Given the description of an element on the screen output the (x, y) to click on. 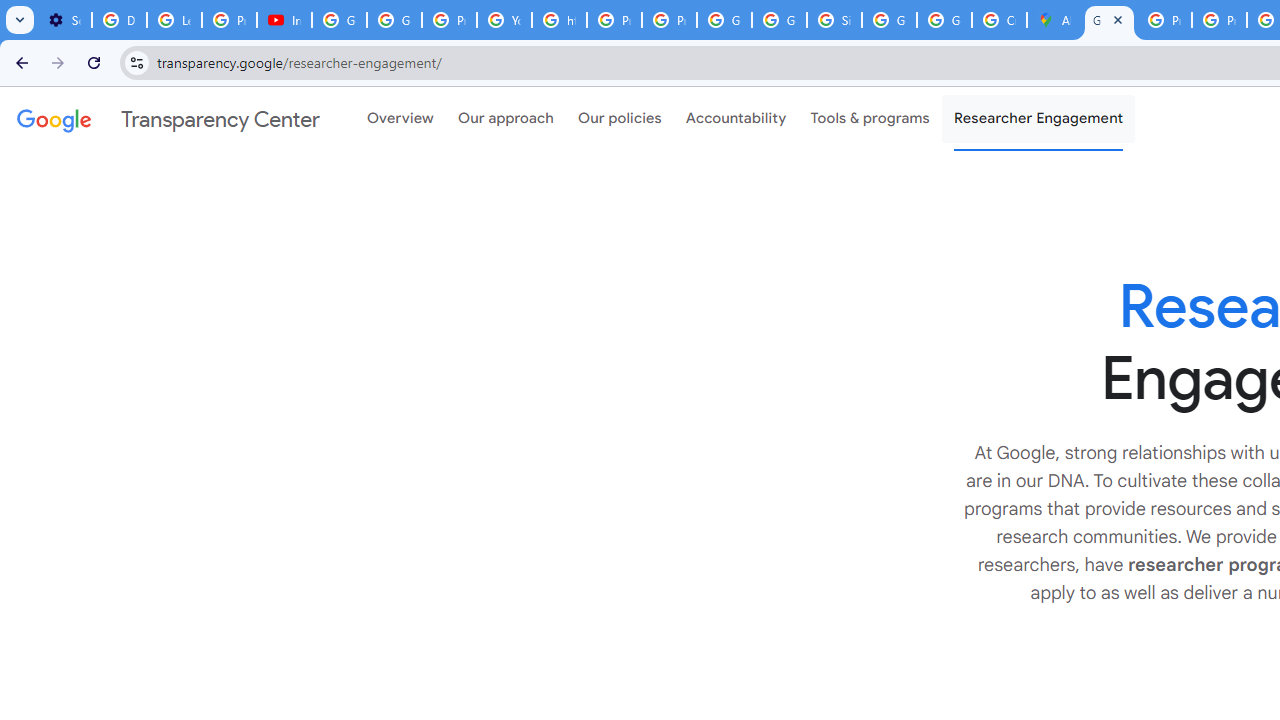
Our approach (506, 119)
Create your Google Account (998, 20)
Accountability (735, 119)
Our policies (619, 119)
Introduction | Google Privacy Policy - YouTube (284, 20)
Sign in - Google Accounts (833, 20)
Google Account Help (339, 20)
